Given the description of an element on the screen output the (x, y) to click on. 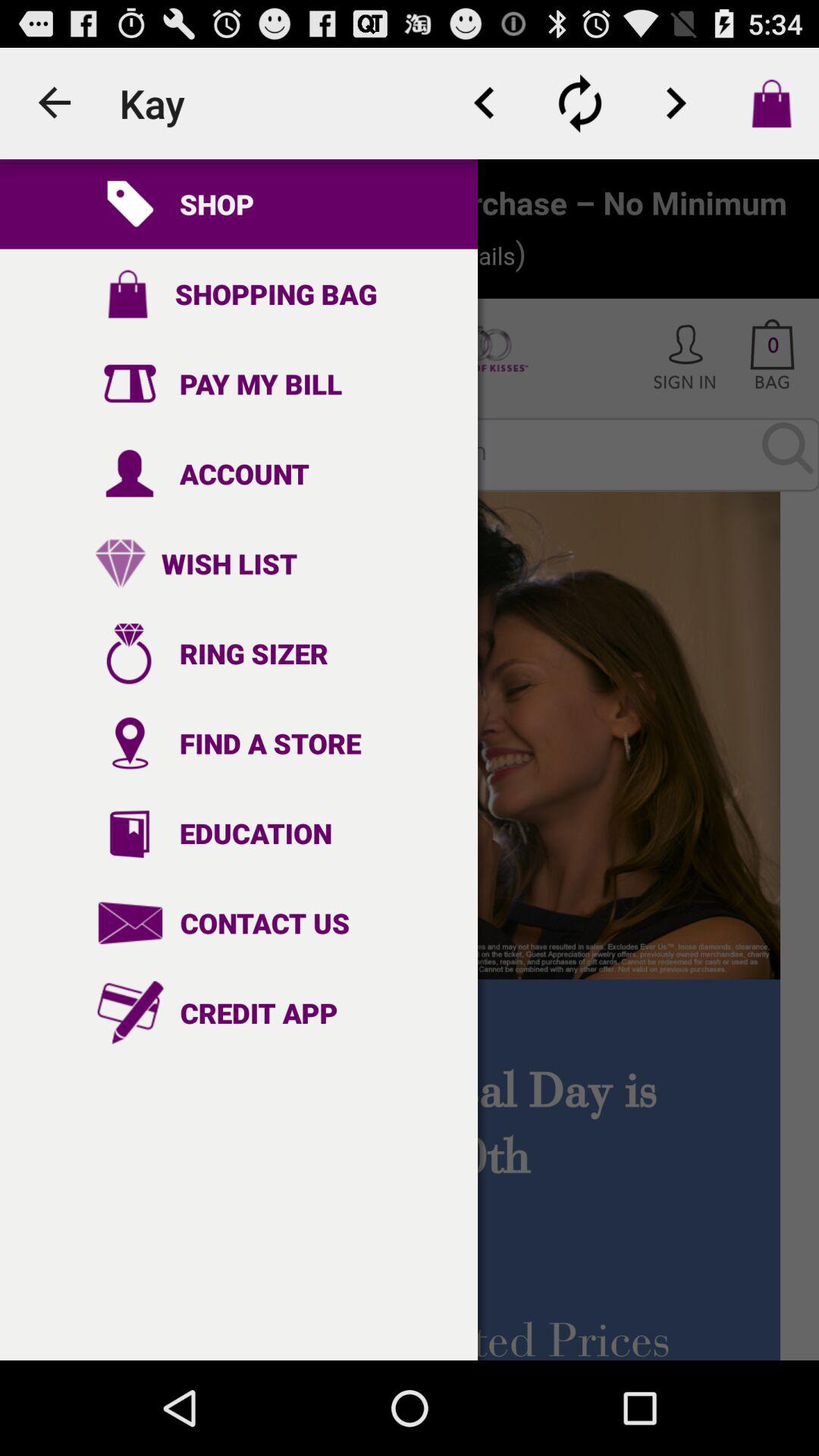
refresh (579, 103)
